Given the description of an element on the screen output the (x, y) to click on. 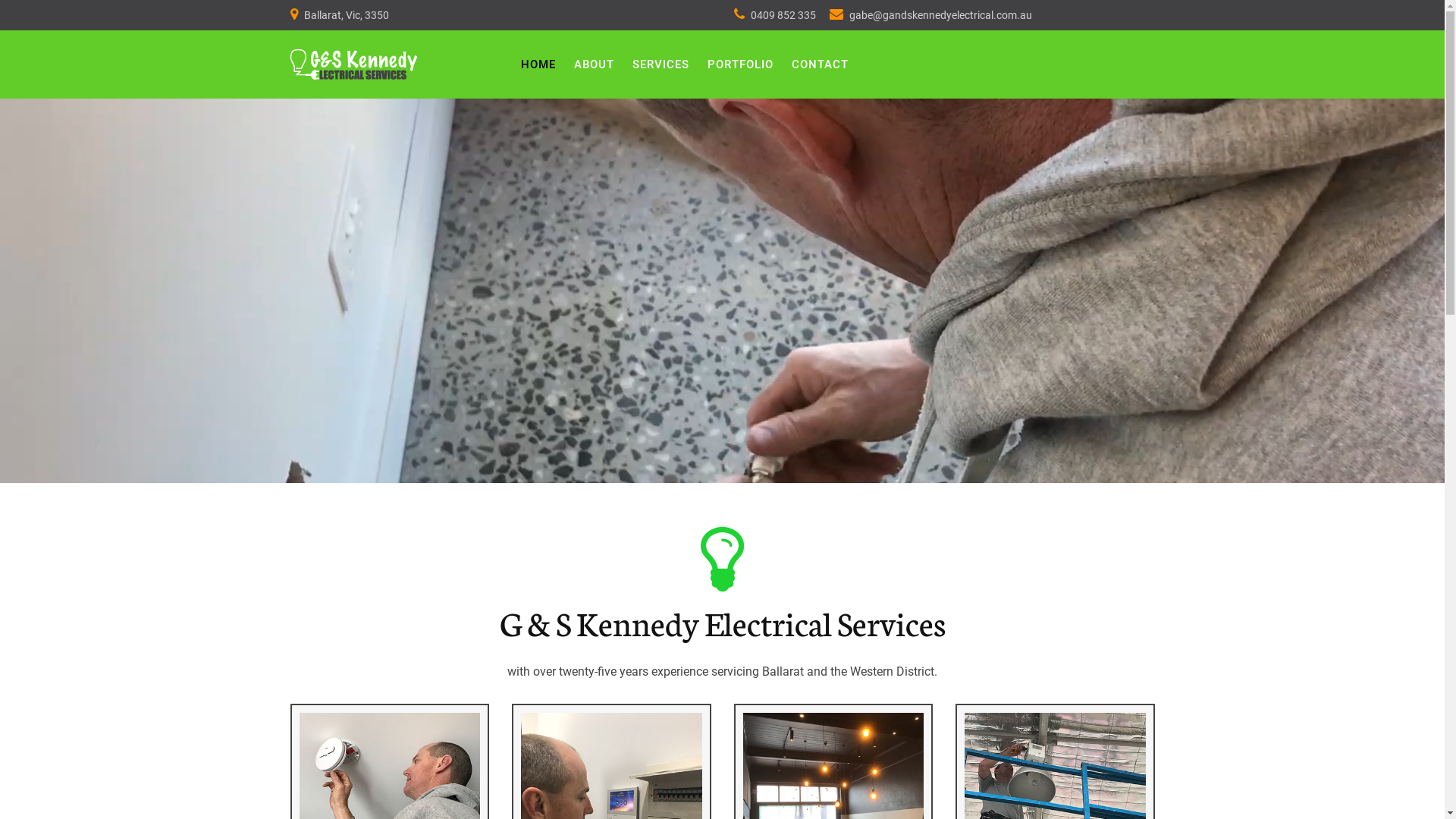
ABOUT Element type: text (593, 64)
HOME Element type: text (537, 64)
PORTFOLIO Element type: text (740, 64)
SERVICES Element type: text (660, 64)
CONTACT Element type: text (819, 64)
